Given the description of an element on the screen output the (x, y) to click on. 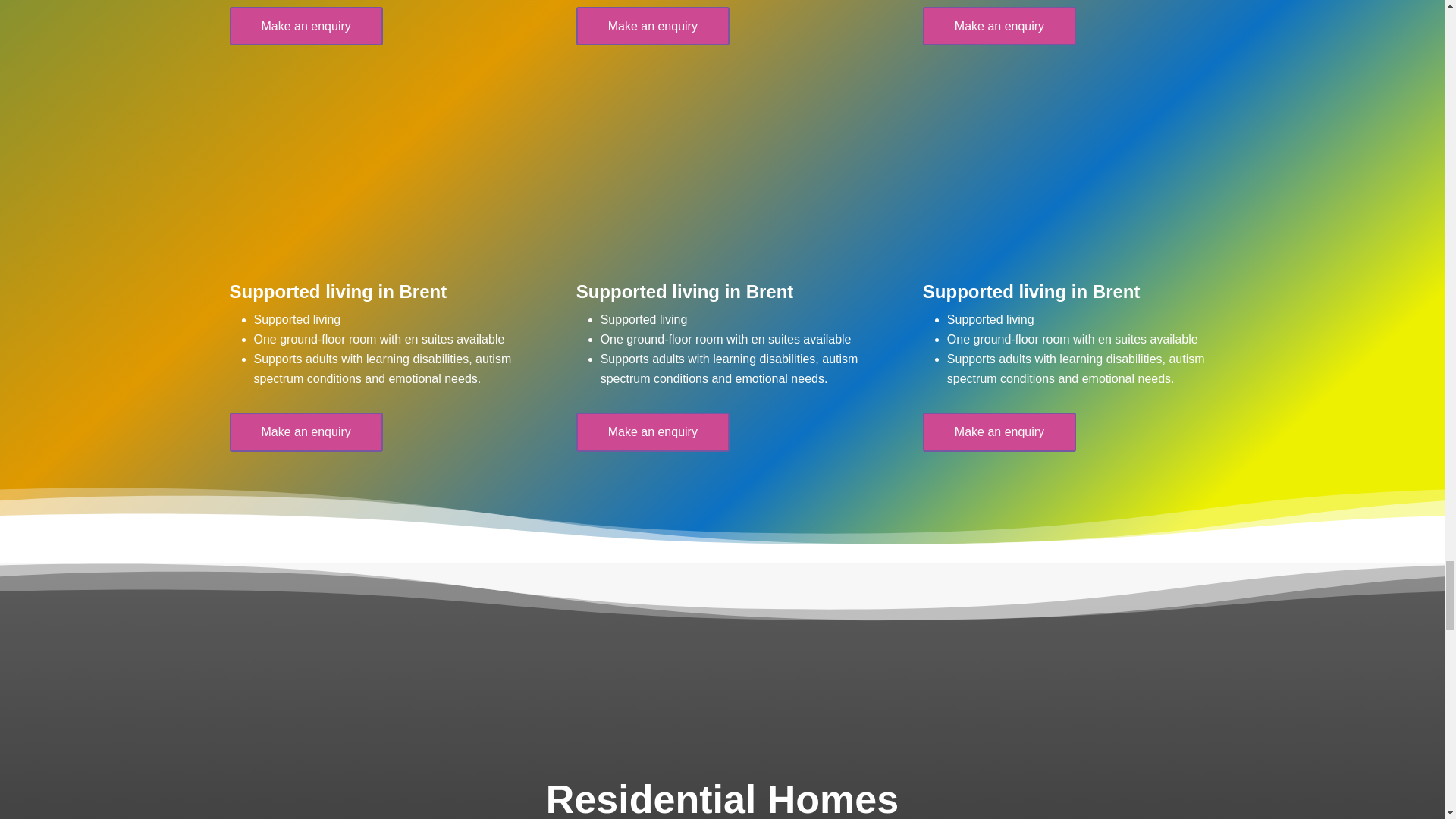
Make an enquiry (652, 25)
Make an enquiry (999, 25)
Make an enquiry (304, 25)
Make an enquiry (304, 431)
